Given the description of an element on the screen output the (x, y) to click on. 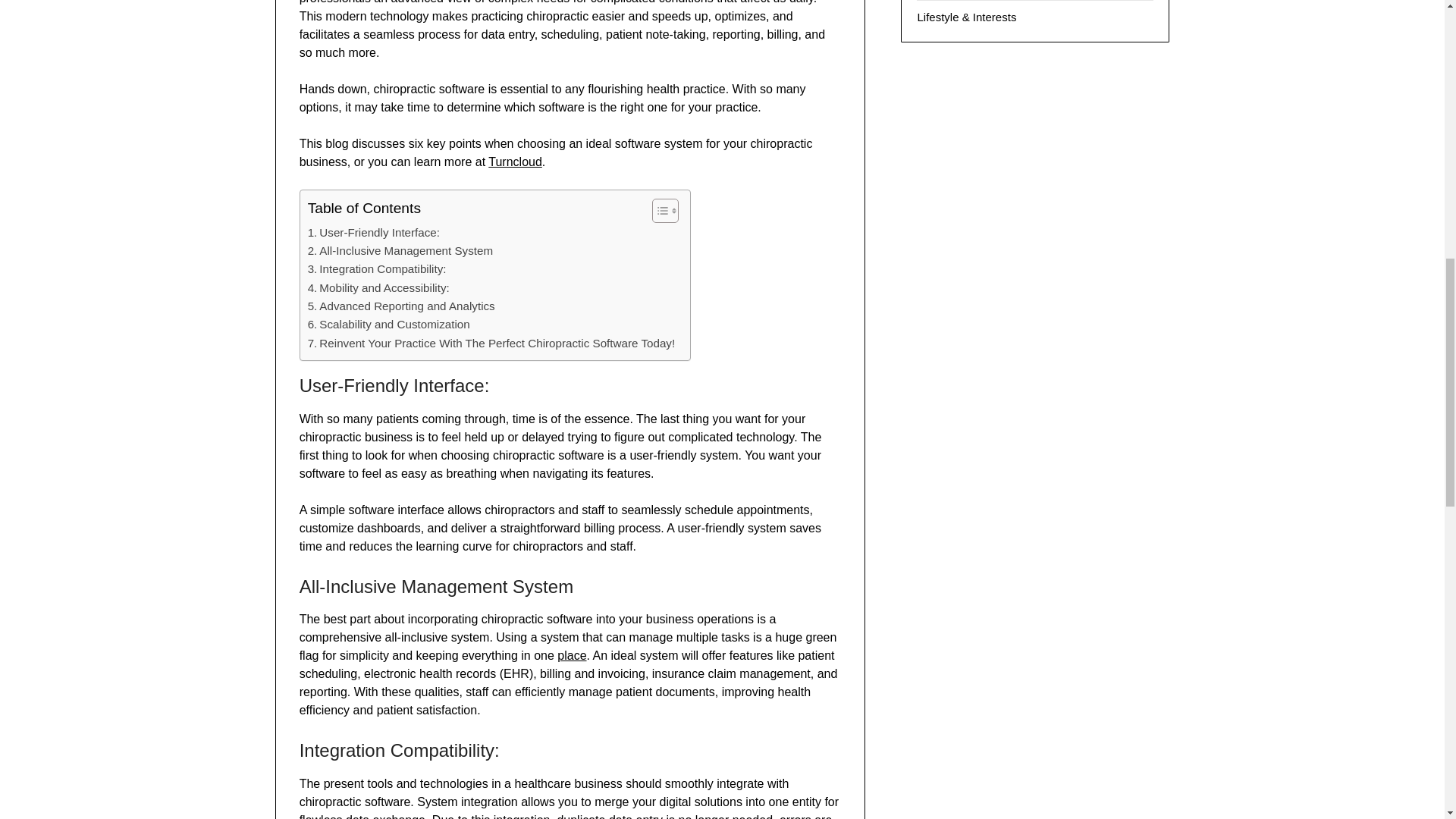
Scalability and Customization (388, 324)
Mobility and Accessibility: (378, 288)
All-Inclusive Management System (400, 250)
Mobility and Accessibility: (378, 288)
place (571, 655)
Advanced Reporting and Analytics (401, 306)
Advanced Reporting and Analytics (401, 306)
All-Inclusive Management System (400, 250)
